Given the description of an element on the screen output the (x, y) to click on. 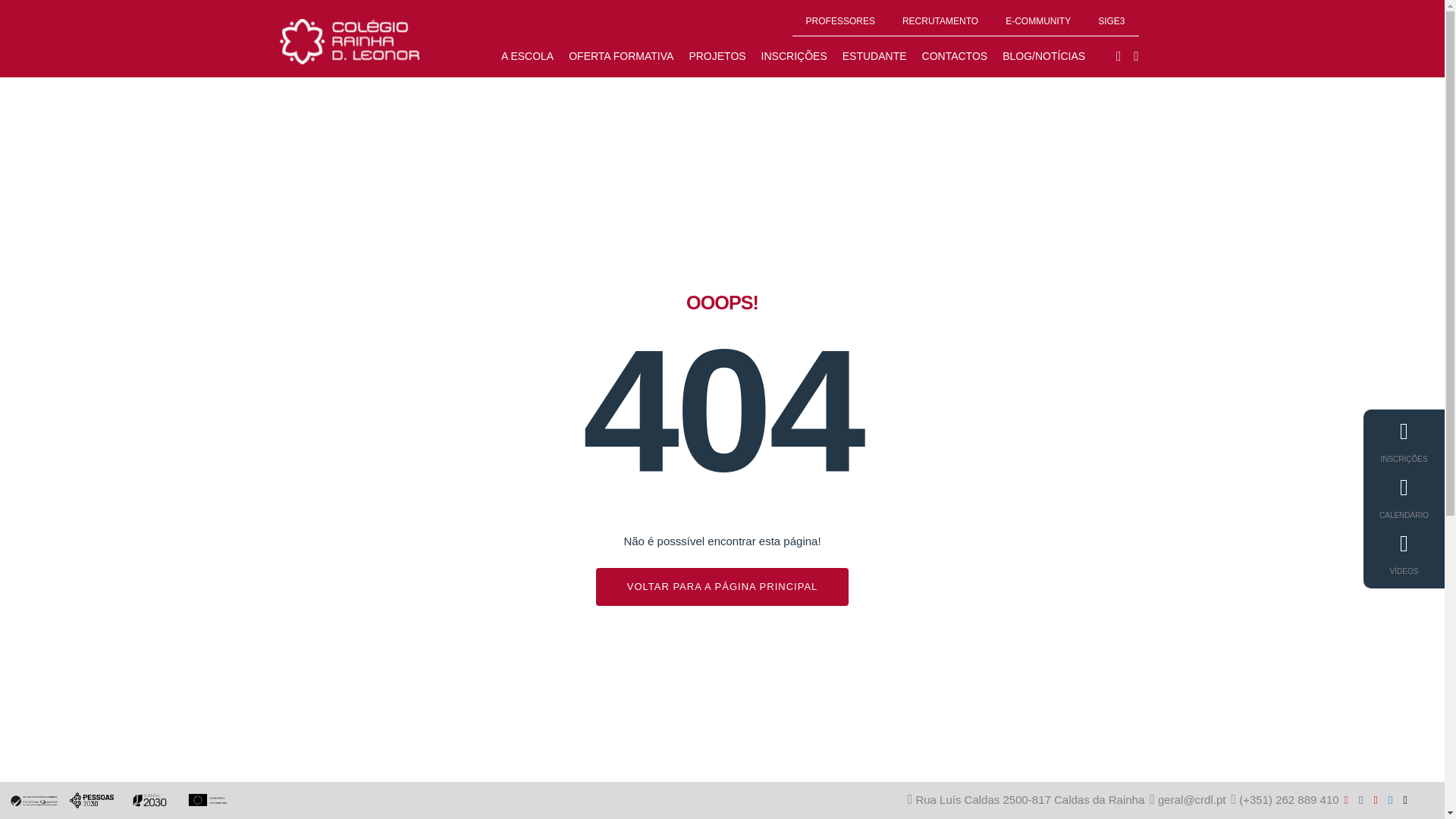
OFERTA FORMATIVA (620, 56)
E-COMMUNITY (1038, 20)
A ESCOLA (526, 56)
RECRUTAMENTO (940, 20)
PROFESSORES (840, 20)
SIGE3 (1110, 20)
